Given the description of an element on the screen output the (x, y) to click on. 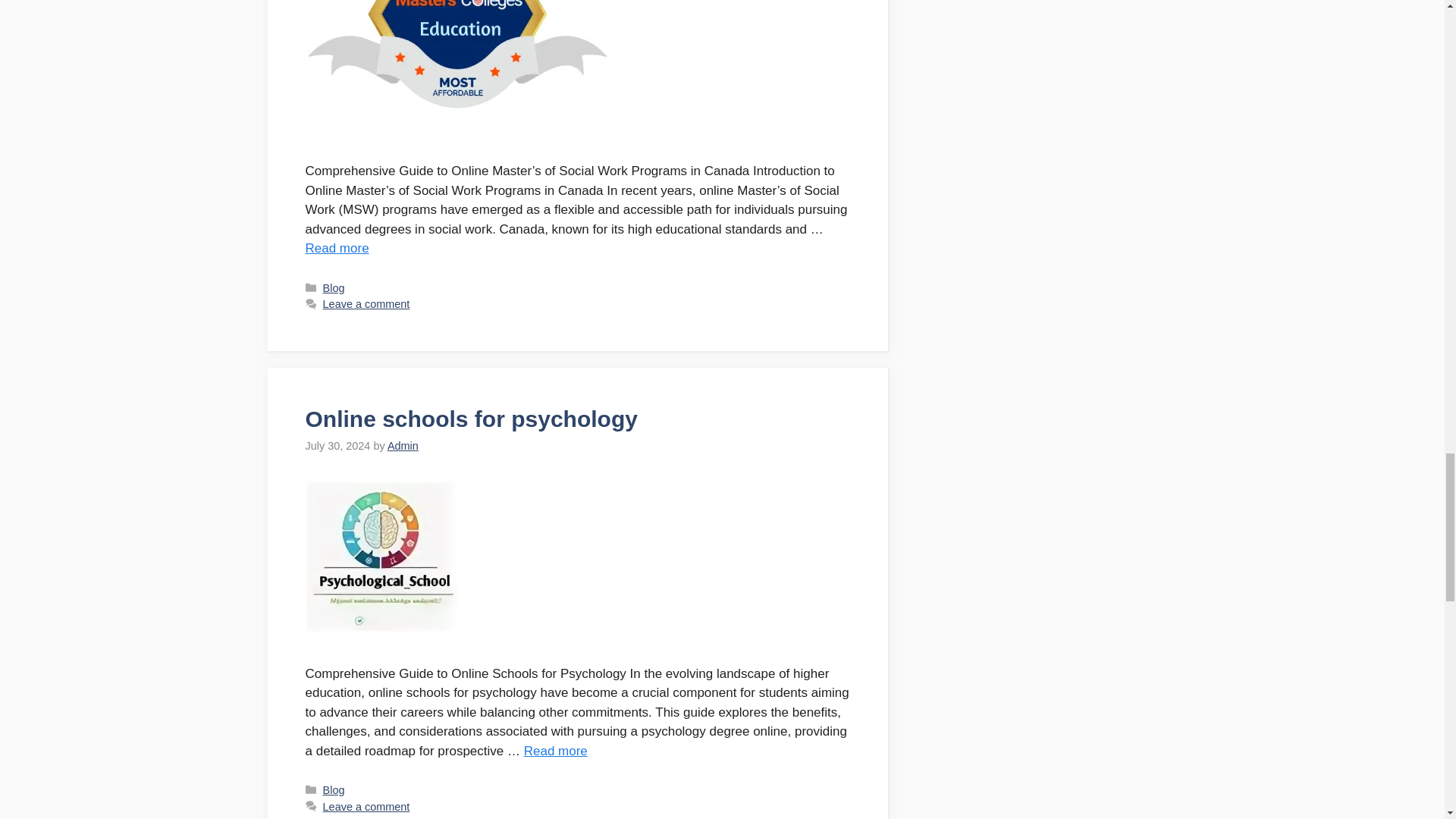
Blog (334, 789)
Admin (403, 445)
Online schools for psychology (470, 418)
Online schools for psychology (556, 750)
Read more (556, 750)
View all posts by Admin (403, 445)
Blog (334, 287)
Read more (336, 247)
Leave a comment (366, 304)
